Given the description of an element on the screen output the (x, y) to click on. 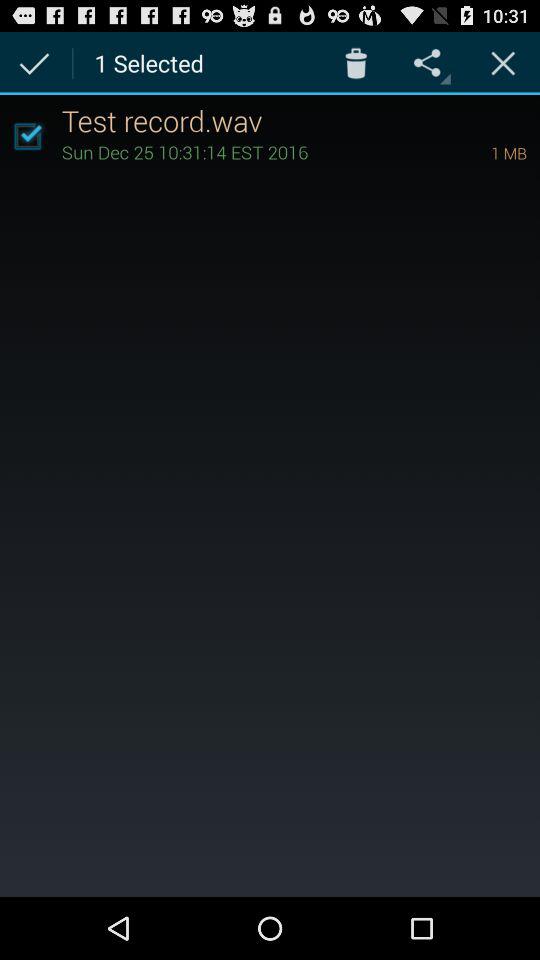
close section (503, 62)
